Given the description of an element on the screen output the (x, y) to click on. 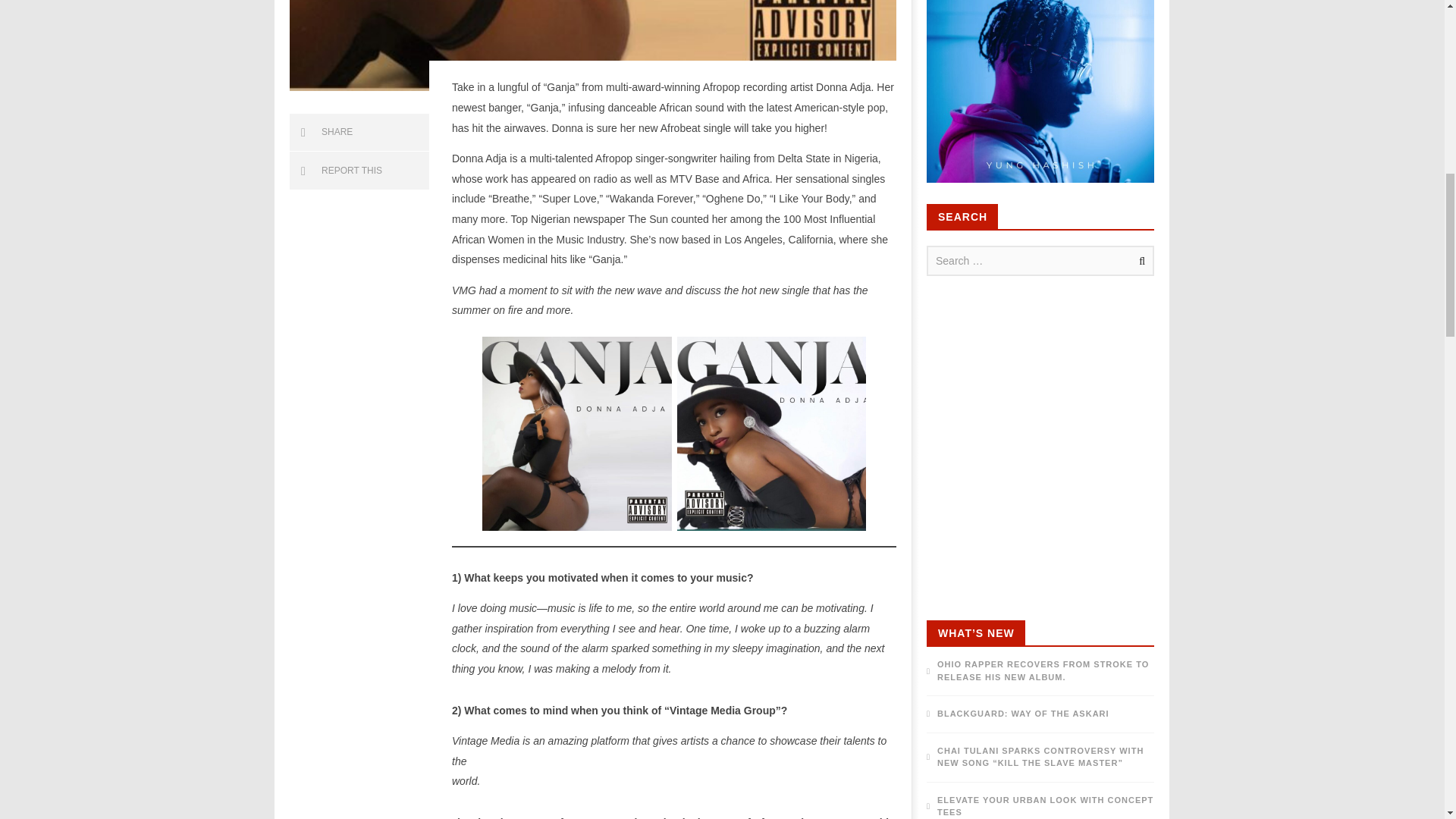
Search (1139, 260)
share (359, 132)
SHARE (359, 132)
REPORT THIS (359, 171)
Search (1139, 260)
